Given the description of an element on the screen output the (x, y) to click on. 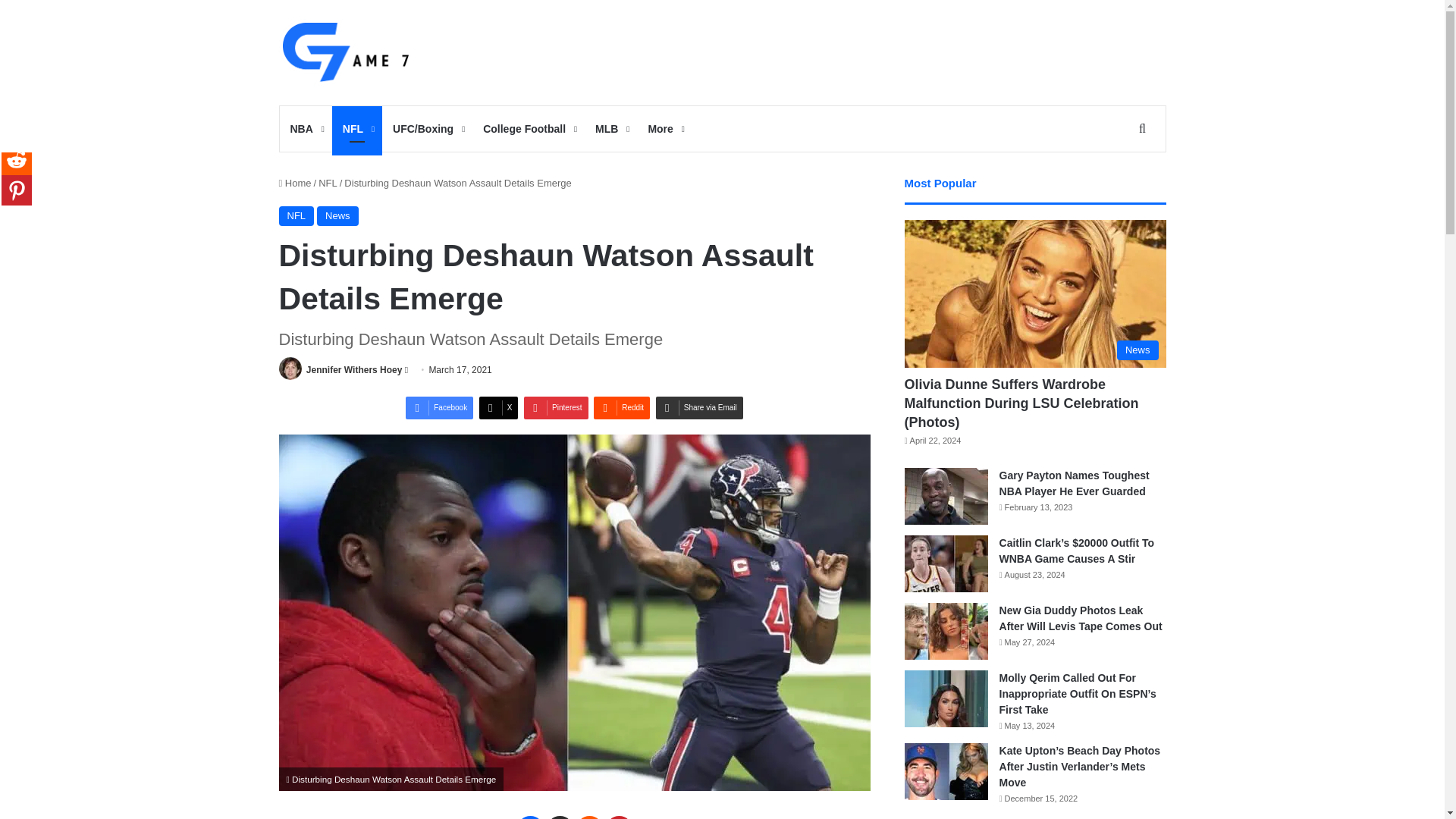
Reddit (589, 817)
Reddit (621, 407)
X (498, 407)
X (559, 817)
Pinterest (618, 817)
Share via Email (699, 407)
Facebook (439, 407)
GAME 7 (344, 52)
Jennifer Withers Hoey (354, 369)
Pinterest (556, 407)
